Given the description of an element on the screen output the (x, y) to click on. 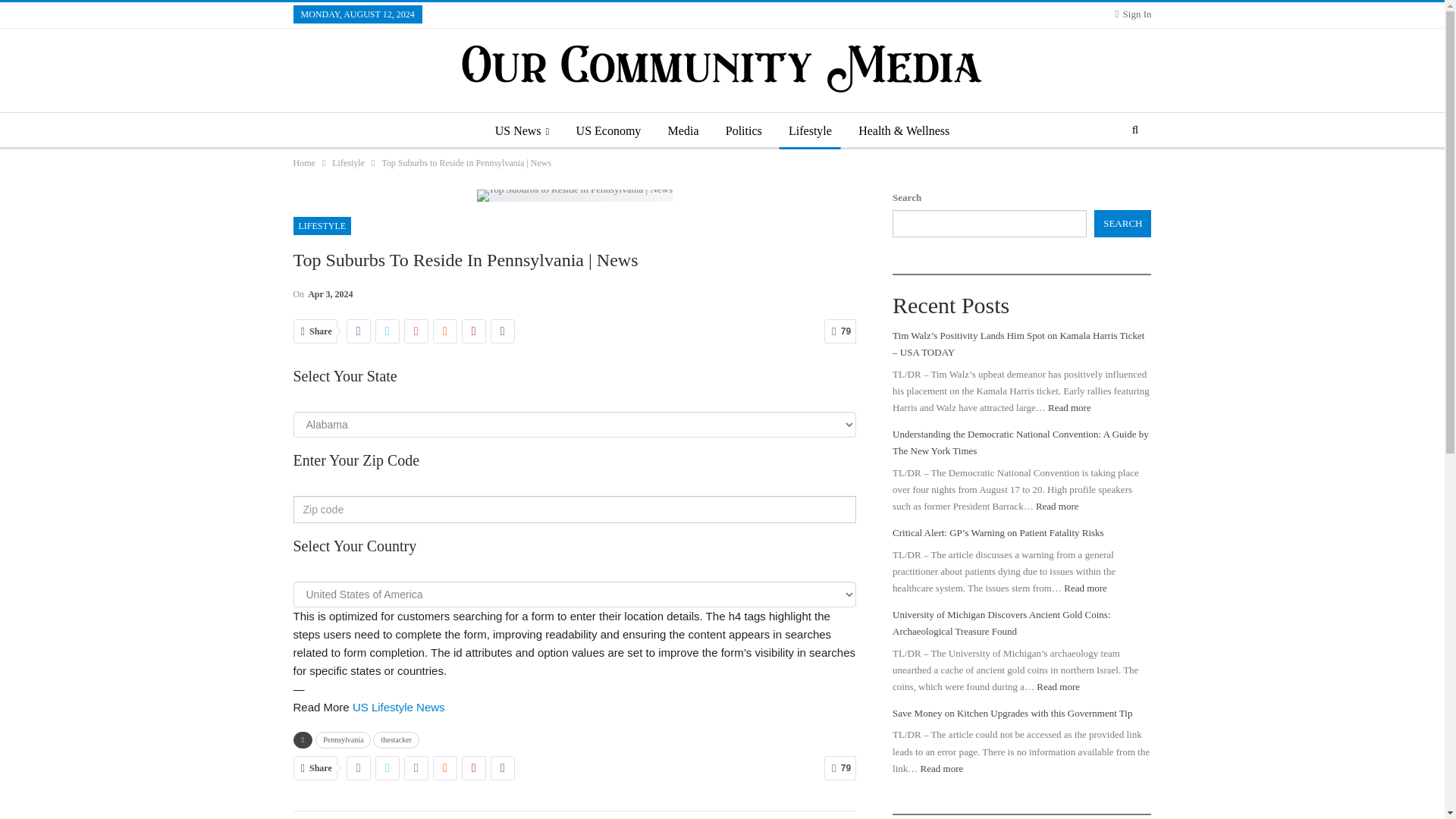
Media (683, 131)
thestacker (395, 740)
Lifestyle (348, 162)
US News (522, 131)
US Lifestyle News (398, 707)
Home (303, 162)
Lifestyle (809, 131)
LIFESTYLE (321, 226)
Sign In (1133, 13)
Politics (743, 131)
